Given the description of an element on the screen output the (x, y) to click on. 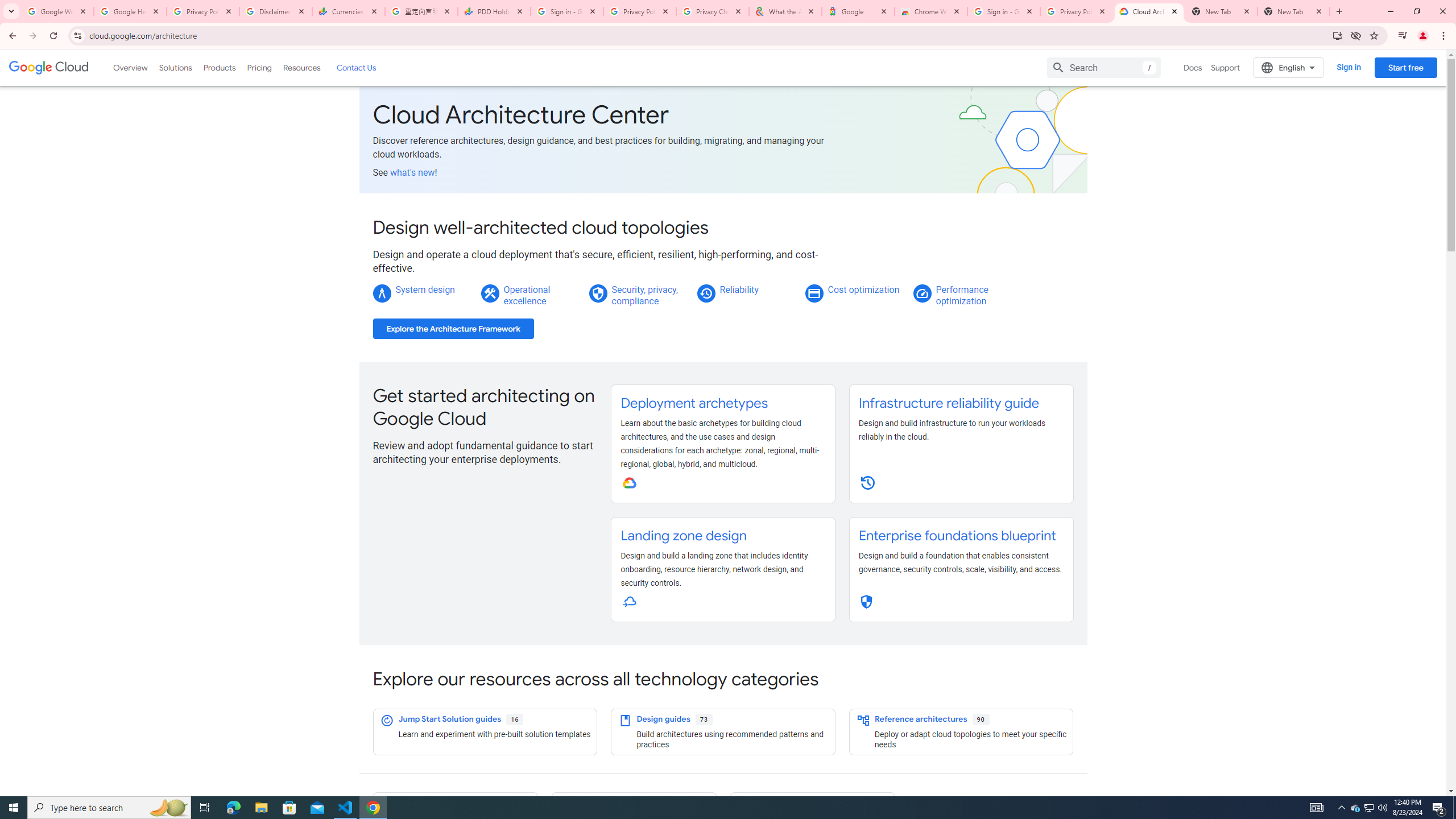
Enterprise foundations blueprint (956, 535)
Currencies - Google Finance (348, 11)
Contact Us (355, 67)
Support (1225, 67)
Install Google Cloud (1336, 35)
Chrome Web Store - Color themes by Chrome (930, 11)
Infrastructure reliability guide (948, 402)
Security, privacy, compliance (644, 295)
PDD Holdings Inc - ADR (PDD) Price & News - Google Finance (493, 11)
what's new (412, 172)
Performance optimization (962, 295)
